Given the description of an element on the screen output the (x, y) to click on. 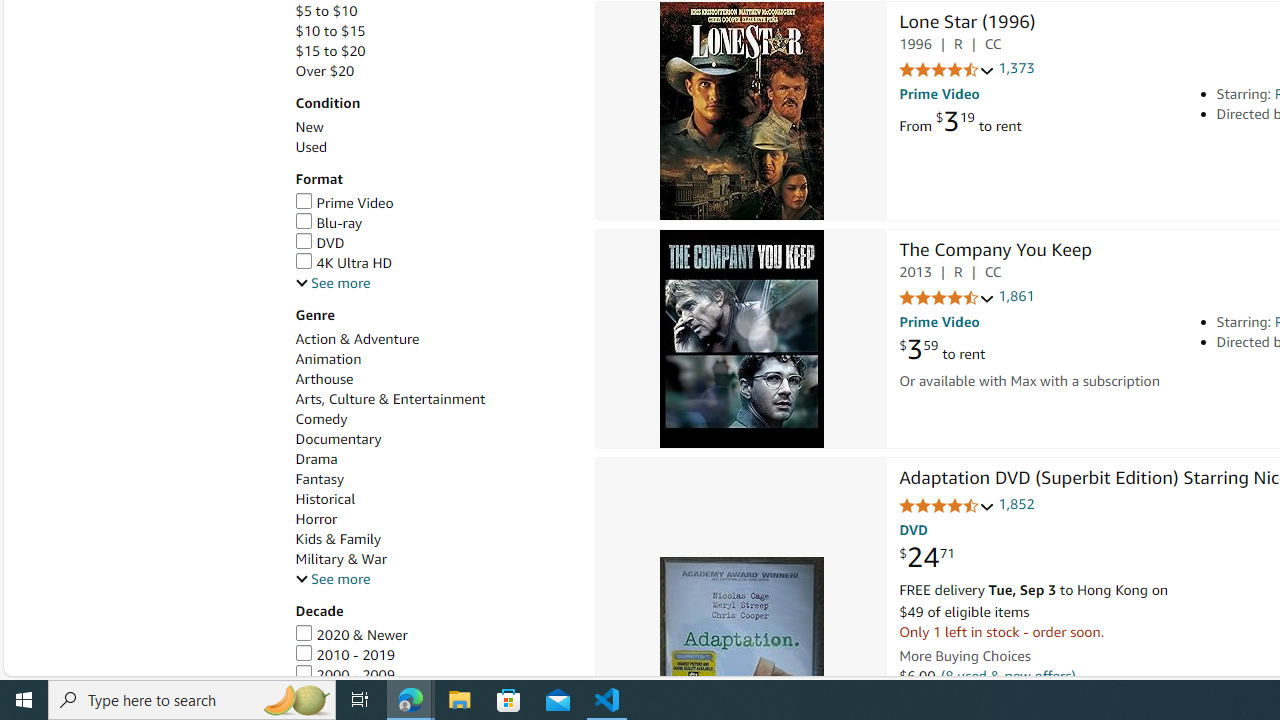
(8 used & new offers) (1007, 676)
$15 to $20 (330, 51)
4K Ultra HD (343, 262)
Historical (434, 499)
Skip to main search results (88, 666)
$24.71 (926, 558)
Over $20 (434, 71)
$5 to $10 (434, 11)
From $3.19 to rent (959, 121)
Kids & Family (337, 538)
2020 & Newer (434, 635)
$15 to $20 (434, 51)
Military & War (340, 559)
Documentary (434, 439)
